Given the description of an element on the screen output the (x, y) to click on. 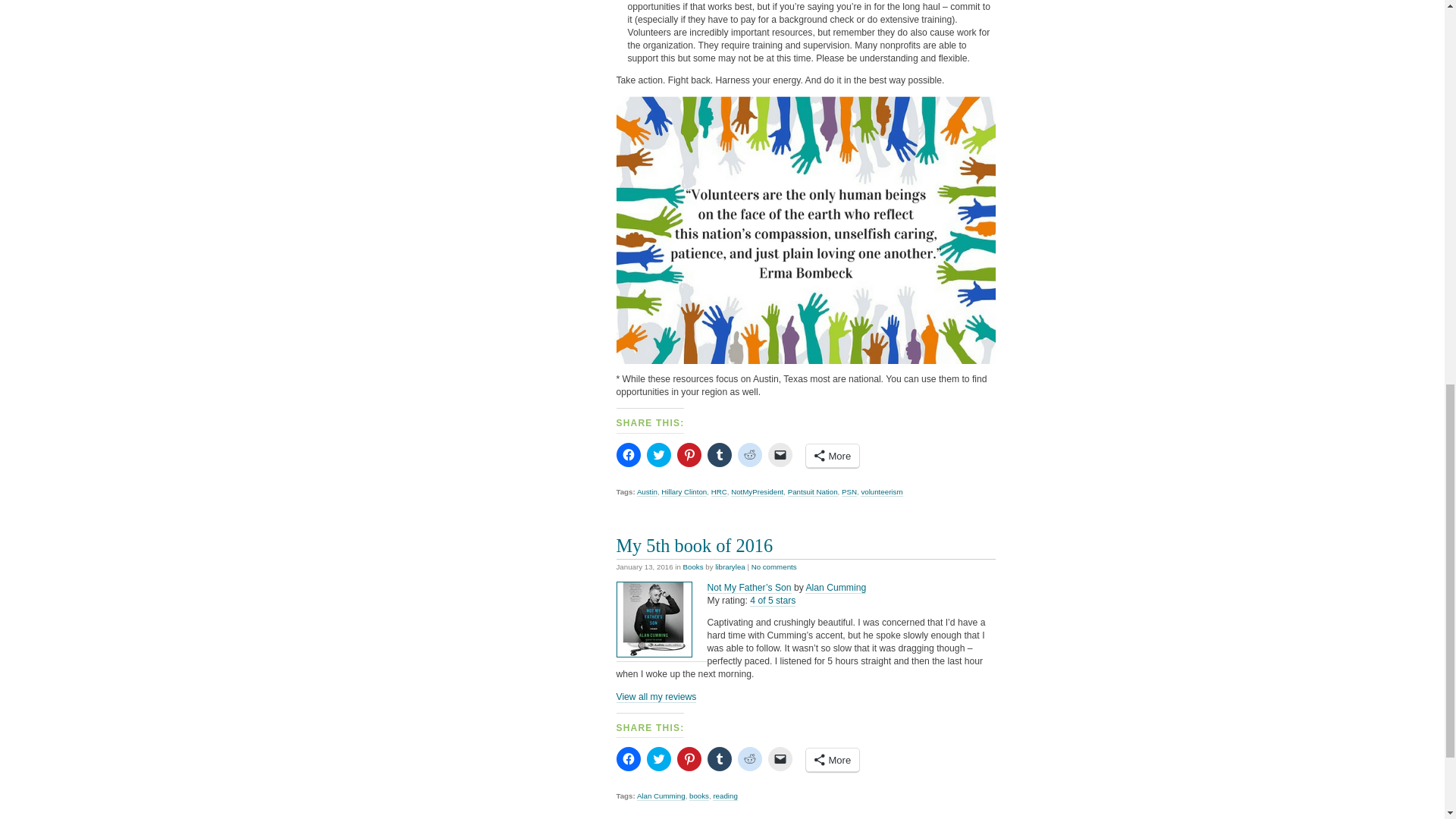
Austin (647, 491)
Click to share on Facebook (627, 454)
Click to share on Twitter (657, 454)
Click to email a link to a friend (779, 454)
Articles by librarylea (729, 566)
Hillary Clinton (683, 491)
Click to share on Facebook (627, 758)
Permanent link to My 5th book of 2016 (694, 545)
Click to share on Twitter (657, 758)
PSN (849, 491)
Pantsuit Nation (812, 491)
NotMyPresident (756, 491)
Click to share on Tumblr (718, 454)
More (832, 455)
HRC (718, 491)
